Given the description of an element on the screen output the (x, y) to click on. 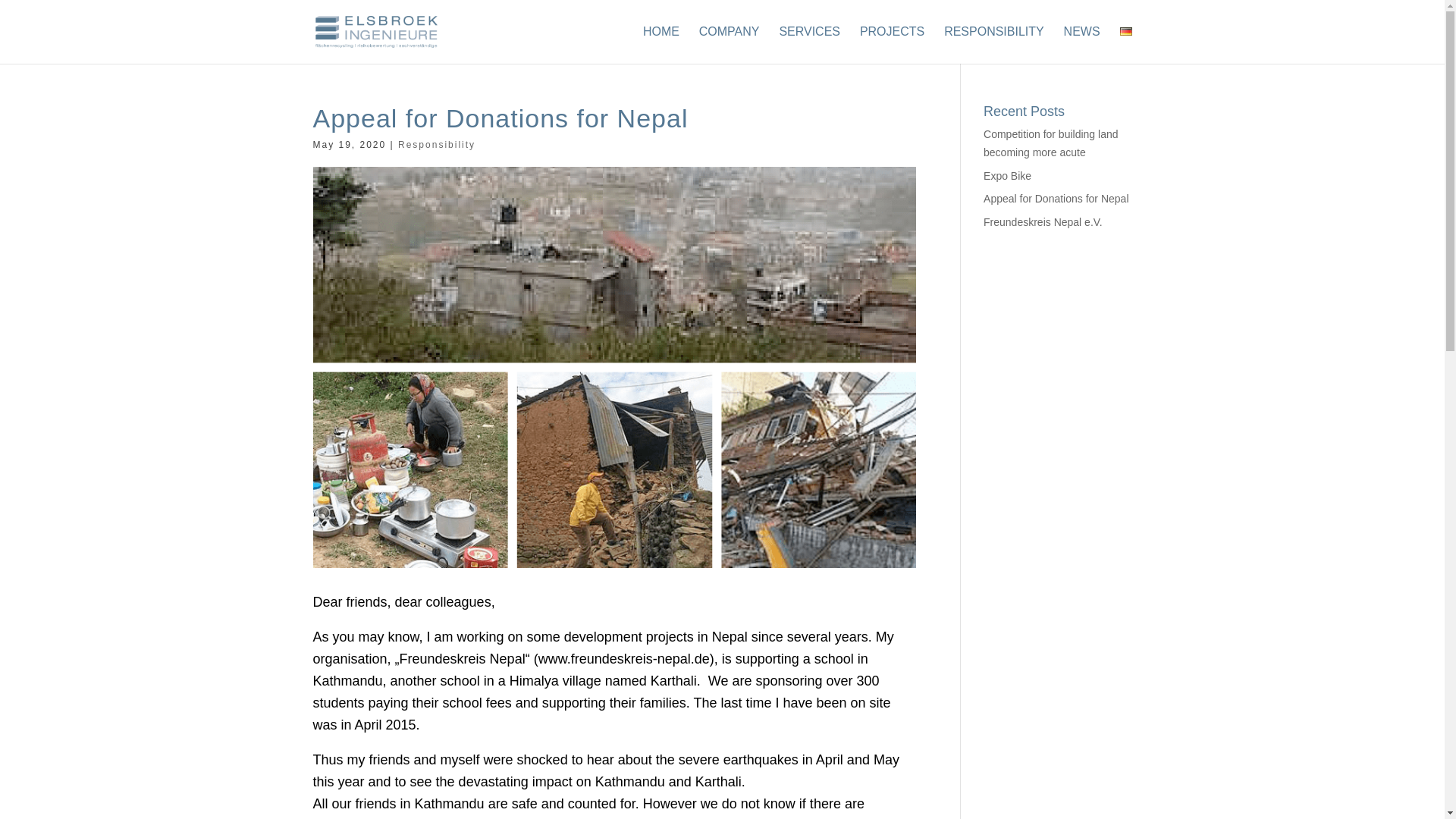
Competition for building land becoming more acute (1051, 142)
PROJECTS (892, 44)
COMPANY (729, 44)
SERVICES (809, 44)
NEWS (1082, 44)
Expo Bike (1007, 175)
Responsibility (436, 144)
Appeal for Donations for Nepal (1056, 198)
HOME (661, 44)
RESPONSIBILITY (993, 44)
